Given the description of an element on the screen output the (x, y) to click on. 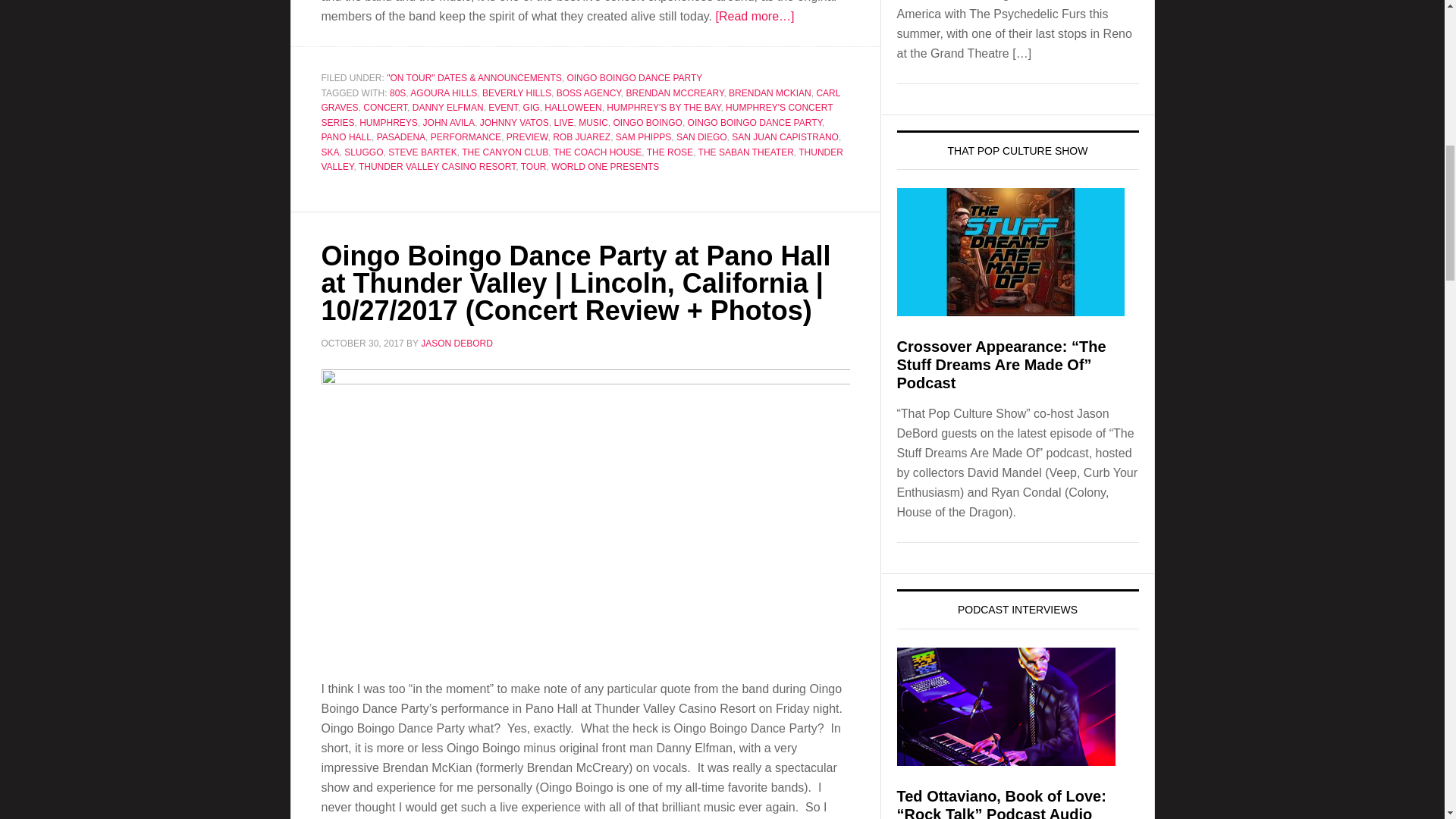
CONCERT (384, 107)
CARL GRAVES (581, 100)
80S (398, 92)
EVENT (502, 107)
DANNY ELFMAN (447, 107)
BEVERLY HILLS (516, 92)
OINGO BOINGO DANCE PARTY (633, 77)
BRENDAN MCKIAN (769, 92)
BRENDAN MCCREARY (674, 92)
AGOURA HILLS (443, 92)
BOSS AGENCY (588, 92)
